Given the description of an element on the screen output the (x, y) to click on. 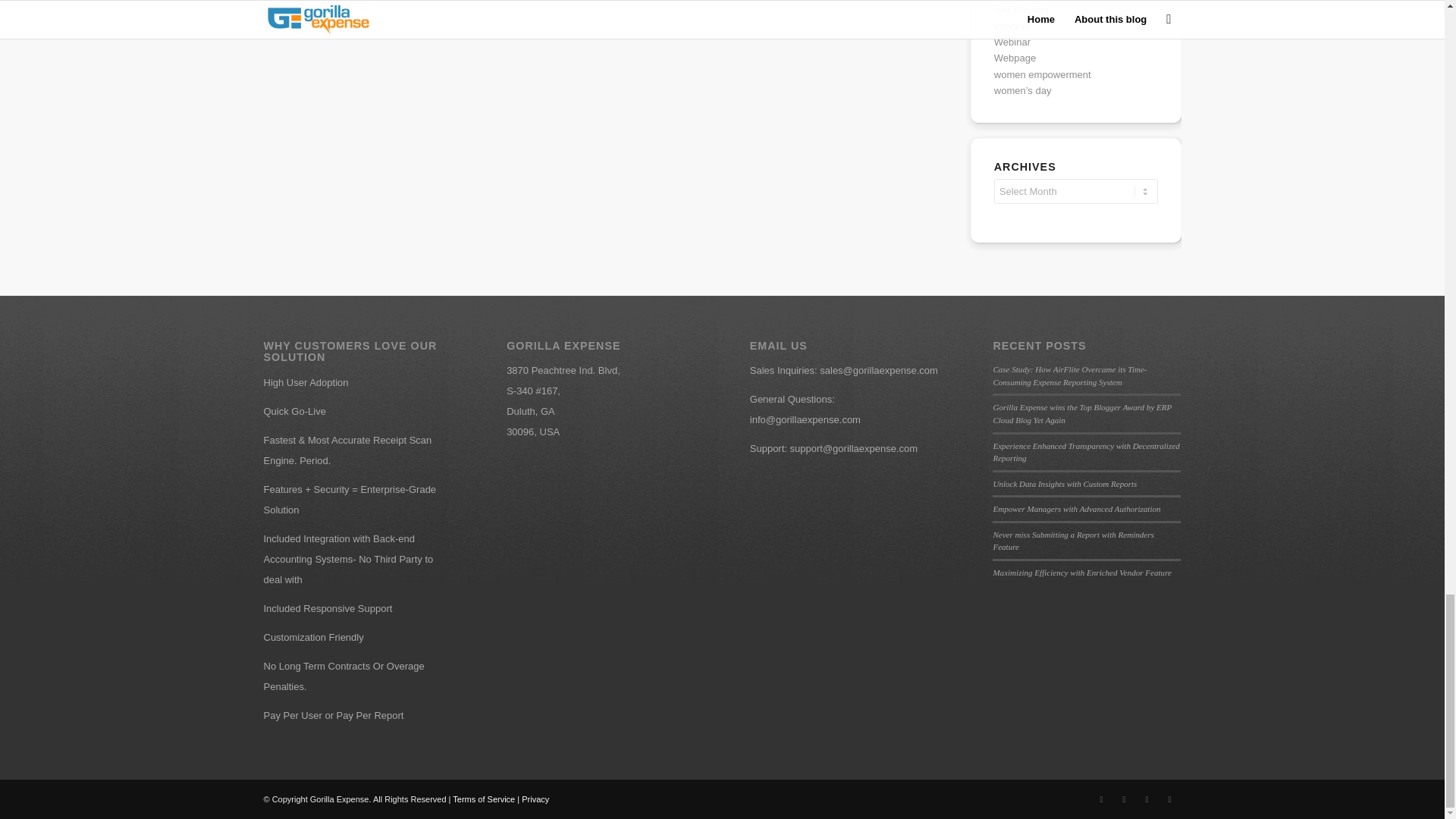
LinkedIn (1124, 798)
Twitter (1101, 798)
Facebook (1146, 798)
Youtube (1169, 798)
